Given the description of an element on the screen output the (x, y) to click on. 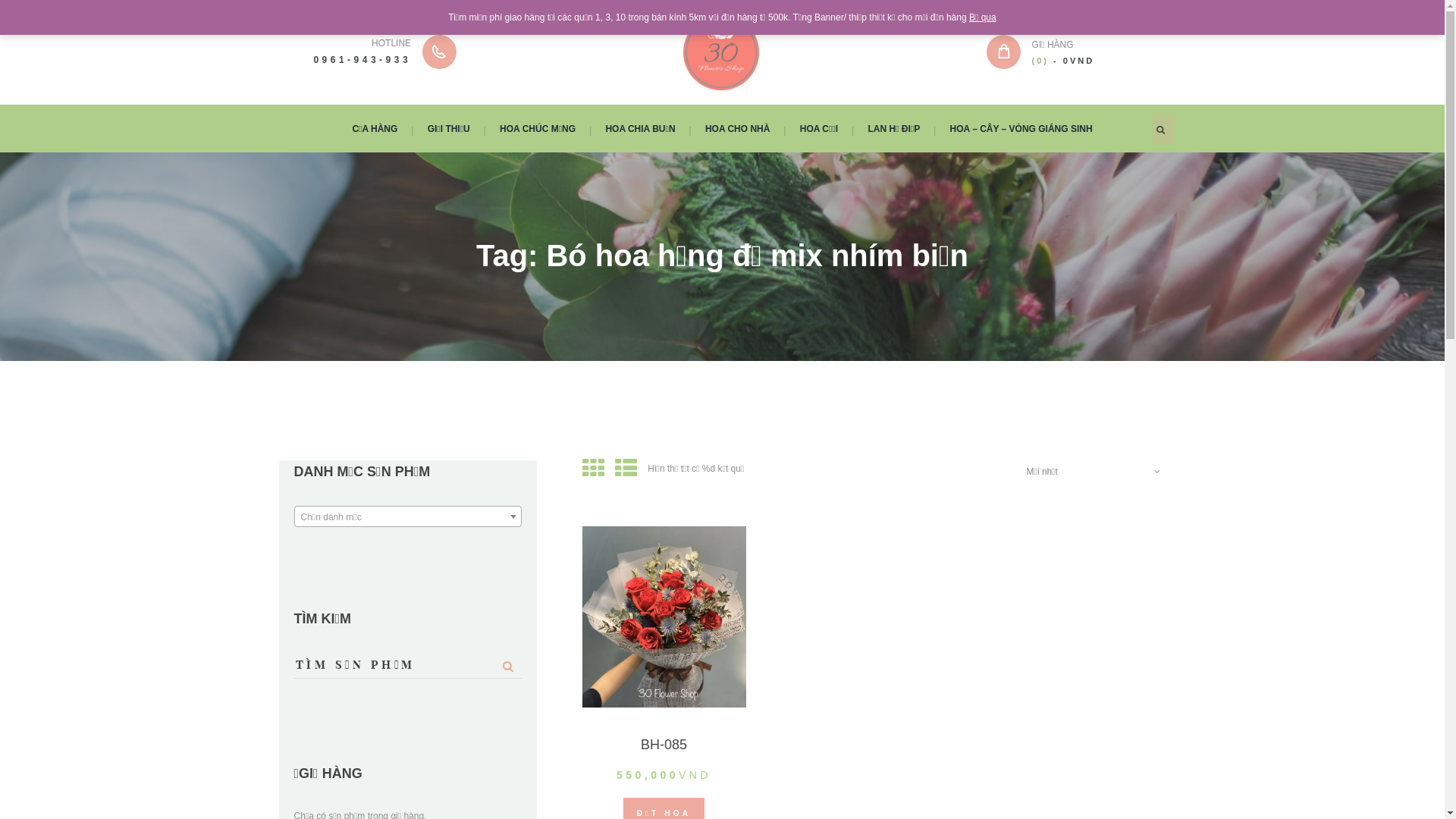
Open search Element type: hover (1161, 129)
Show products as list Element type: hover (626, 468)
Show products as thumbs Element type: hover (593, 468)
0961-943-933 Element type: text (362, 59)
BH-085 Element type: text (663, 744)
